Given the description of an element on the screen output the (x, y) to click on. 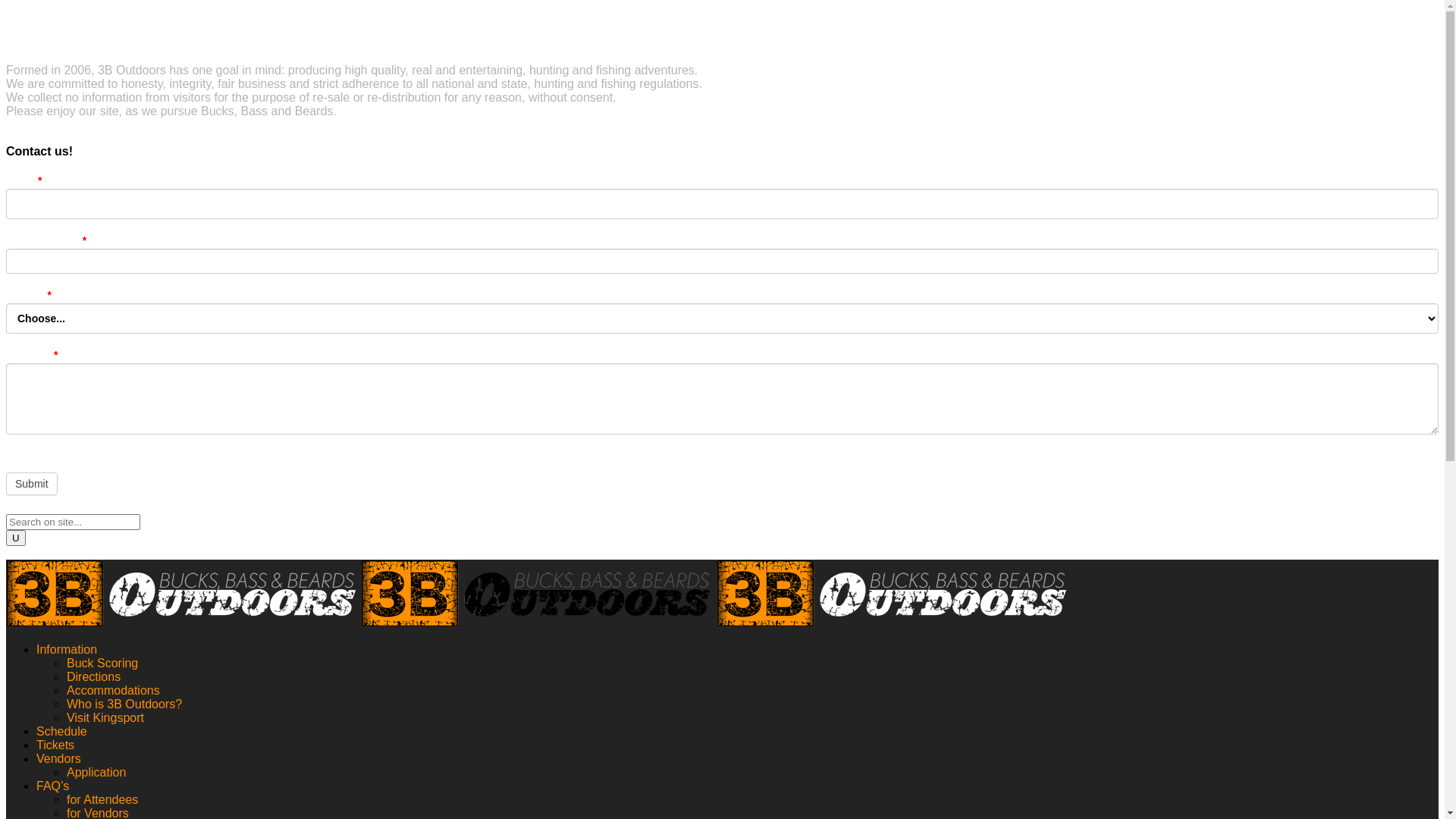
Visit Kingsport Element type: text (105, 717)
Accommodations Element type: text (113, 690)
Buck Scoring Element type: text (102, 662)
Application Element type: text (95, 771)
Submit Element type: text (31, 482)
Directions Element type: text (93, 676)
U Element type: text (15, 537)
Who is 3B Outdoors? Element type: text (124, 703)
Schedule Element type: text (61, 730)
for Attendees Element type: text (102, 799)
Information Element type: text (66, 649)
Tickets Element type: text (55, 744)
Vendors Element type: text (58, 758)
